Given the description of an element on the screen output the (x, y) to click on. 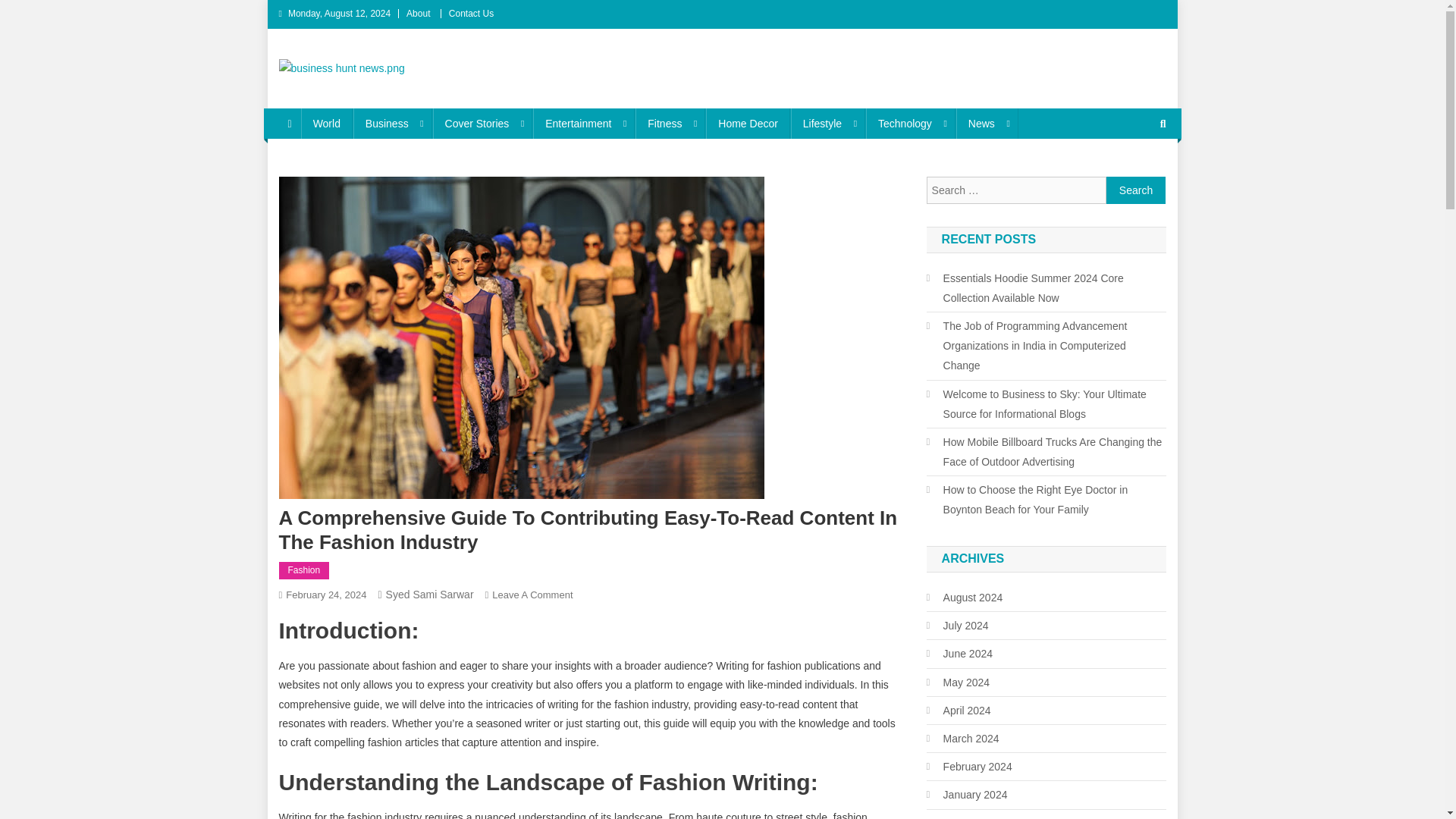
Search (1136, 189)
Home Decor (748, 123)
Search (1136, 189)
Entertainment (583, 123)
Fitness (669, 123)
Lifestyle (827, 123)
Cover Stories (482, 123)
About (417, 13)
Syed Sami Sarwar (429, 594)
Business (392, 123)
